Given the description of an element on the screen output the (x, y) to click on. 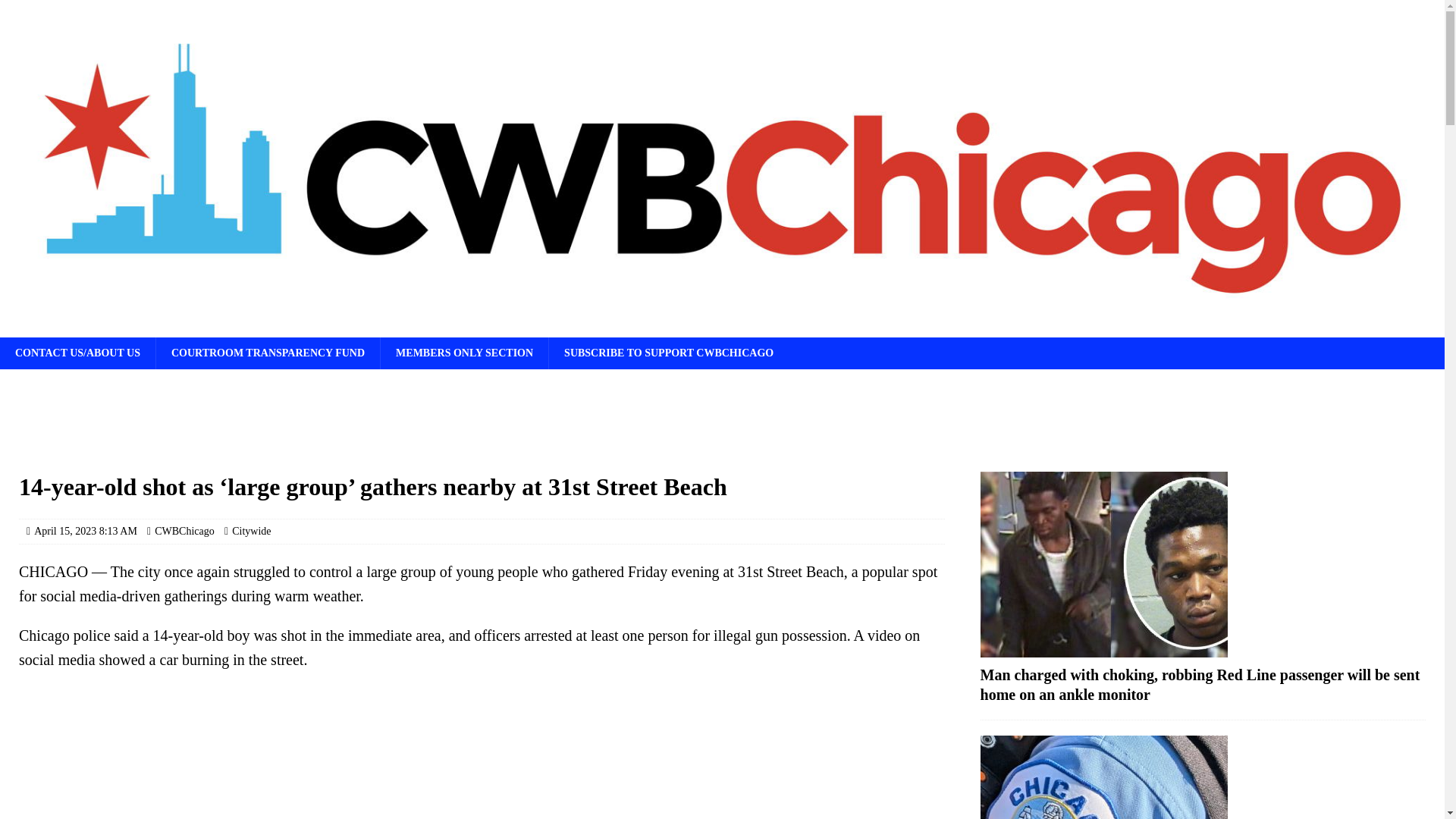
CWBChicago (184, 531)
SUBSCRIBE TO SUPPORT CWBCHICAGO (668, 353)
April 15, 2023 8:13 AM (84, 531)
COURTROOM TRANSPARENCY FUND (267, 353)
Man shot, critically injured in Albany Park overnight (1202, 777)
Citywide (250, 531)
MEMBERS ONLY SECTION (464, 353)
